Given the description of an element on the screen output the (x, y) to click on. 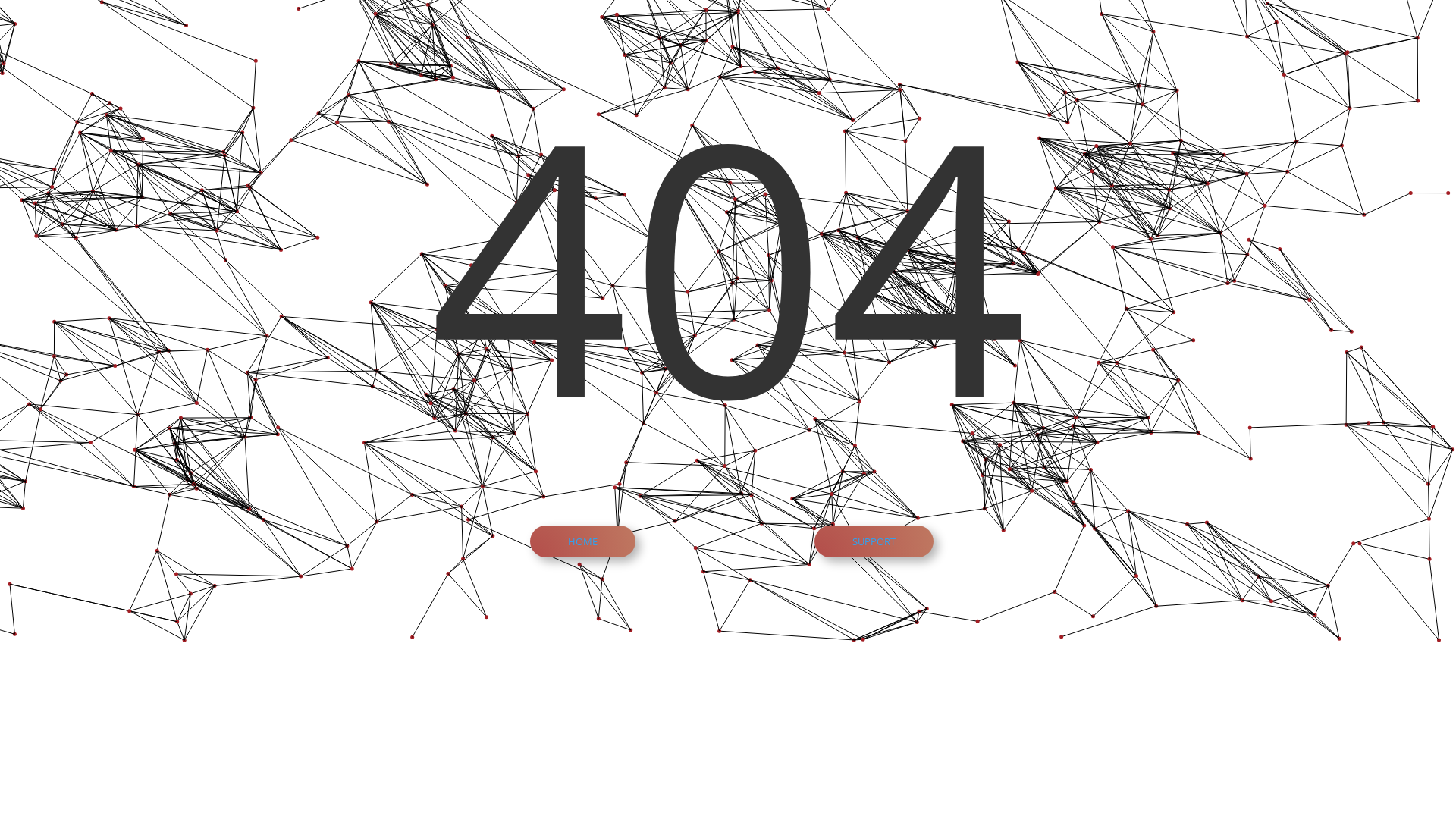
SUPPORT Element type: text (873, 541)
HOME Element type: text (581, 541)
